Given the description of an element on the screen output the (x, y) to click on. 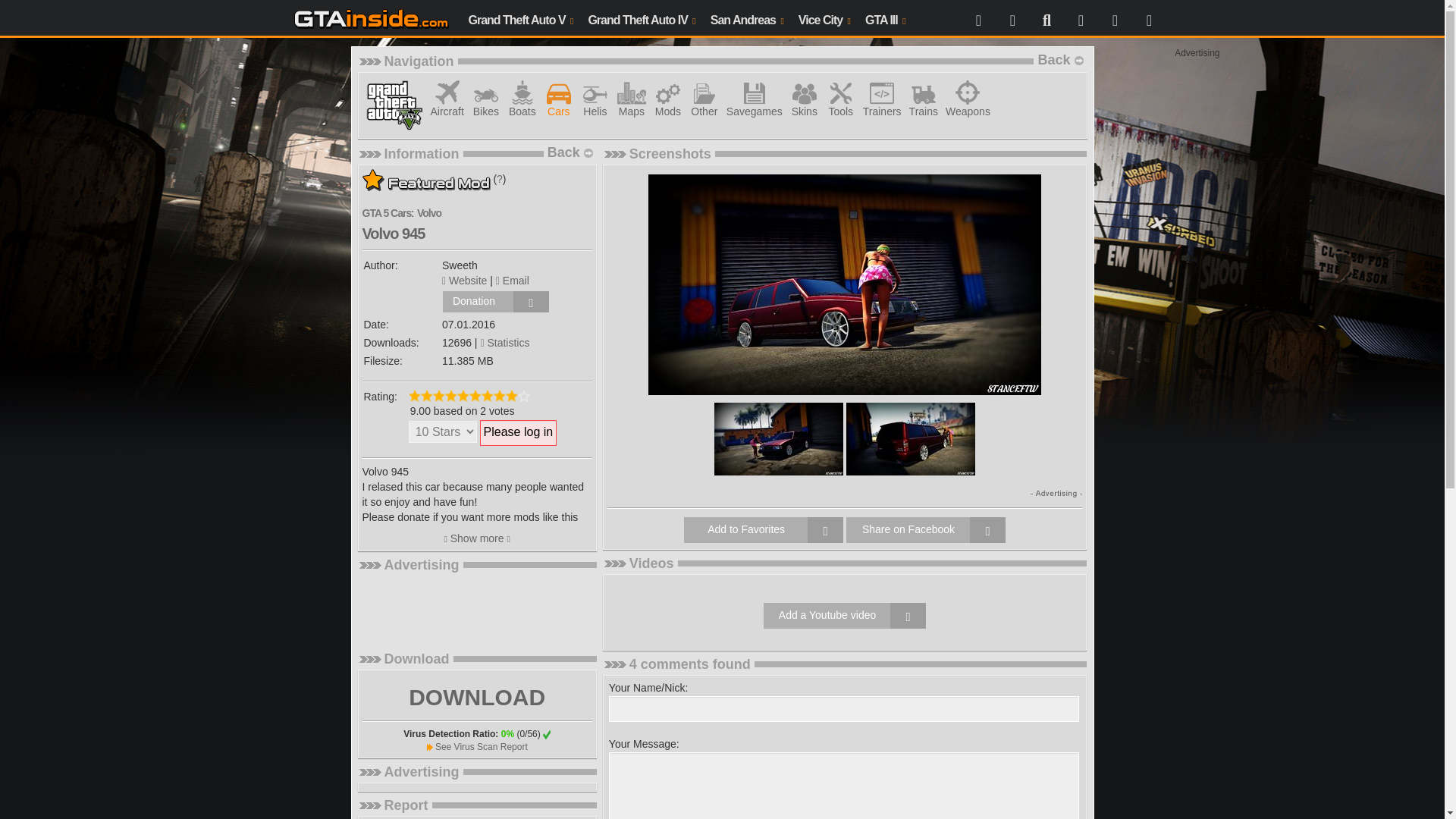
Notifications (1148, 18)
Search (1046, 18)
Messages (1114, 18)
Please log in (518, 432)
Grand Theft Auto V (520, 18)
Add this mod to your GTAinside Favorites (763, 529)
Volvo 945 (778, 438)
Share on Facebook (925, 529)
Your Profile (1011, 18)
Upload your mod (1079, 18)
Grand Theft Auto IV (640, 18)
Volvo 945 (844, 283)
Menu (977, 18)
Volvo 945 (910, 438)
